Given the description of an element on the screen output the (x, y) to click on. 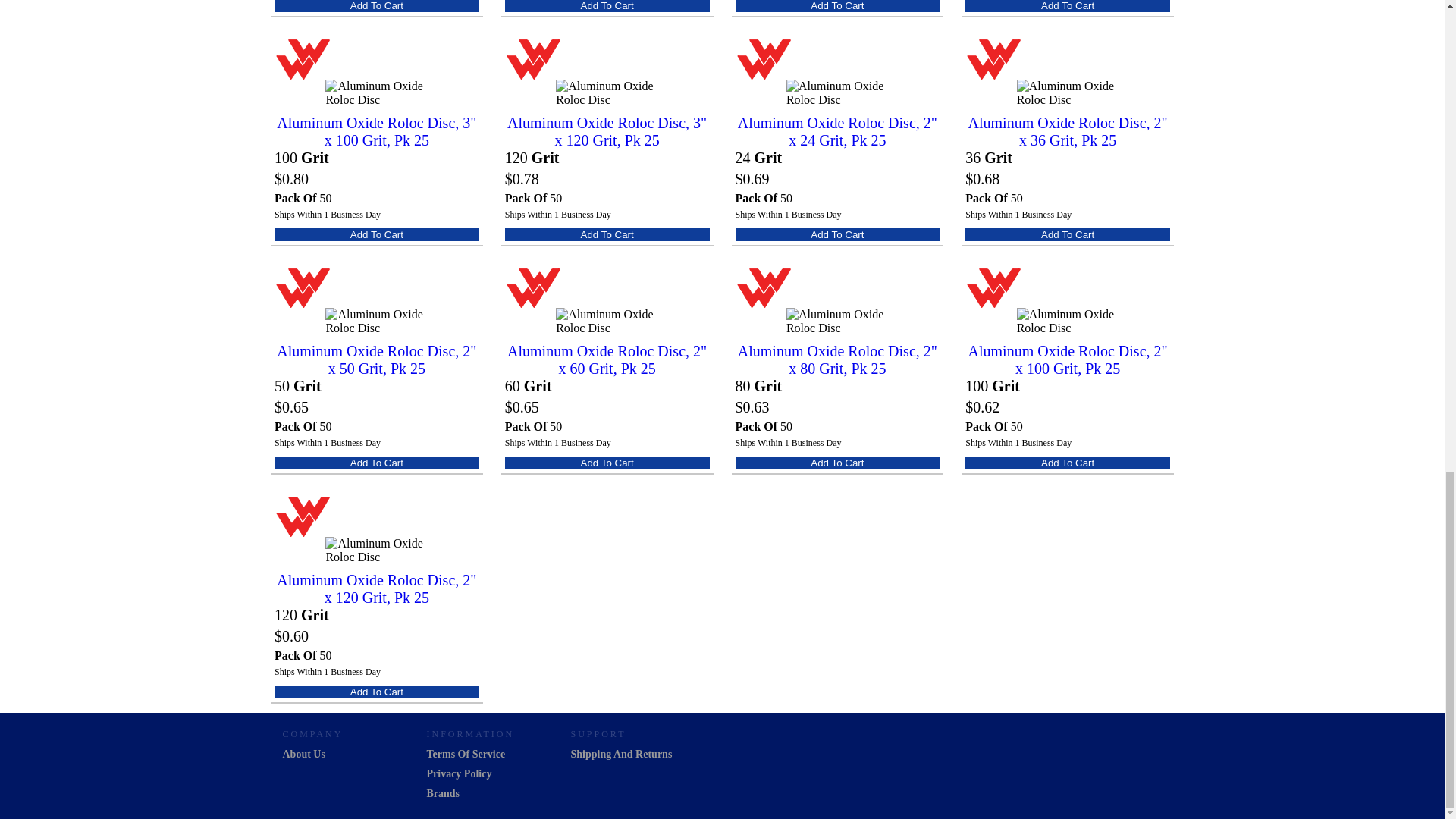
Aluminum Oxide Roloc Disc, 2" x 100 Grit, Pk 25 (1067, 360)
Add To Cart (377, 234)
Add To Cart (607, 234)
Add To Cart (1067, 6)
Aluminum Oxide Roloc Disc, 2" x 36 Grit, Pk 25 (1067, 131)
Aluminum Oxide Roloc Disc, 2" x 60 Grit, Pk 25 (607, 360)
Aluminum Oxide Roloc Disc, 2" x 24 Grit, Pk 25 (837, 131)
Aluminum Oxide Roloc Disc, 3" x 120 Grit, Pk 25 (607, 131)
Aluminum Oxide Roloc Disc, 3" x 100 Grit, Pk 25 (377, 131)
Aluminum Oxide Roloc Disc, 3" x 100 Grit, Pk 25 (377, 131)
